Given the description of an element on the screen output the (x, y) to click on. 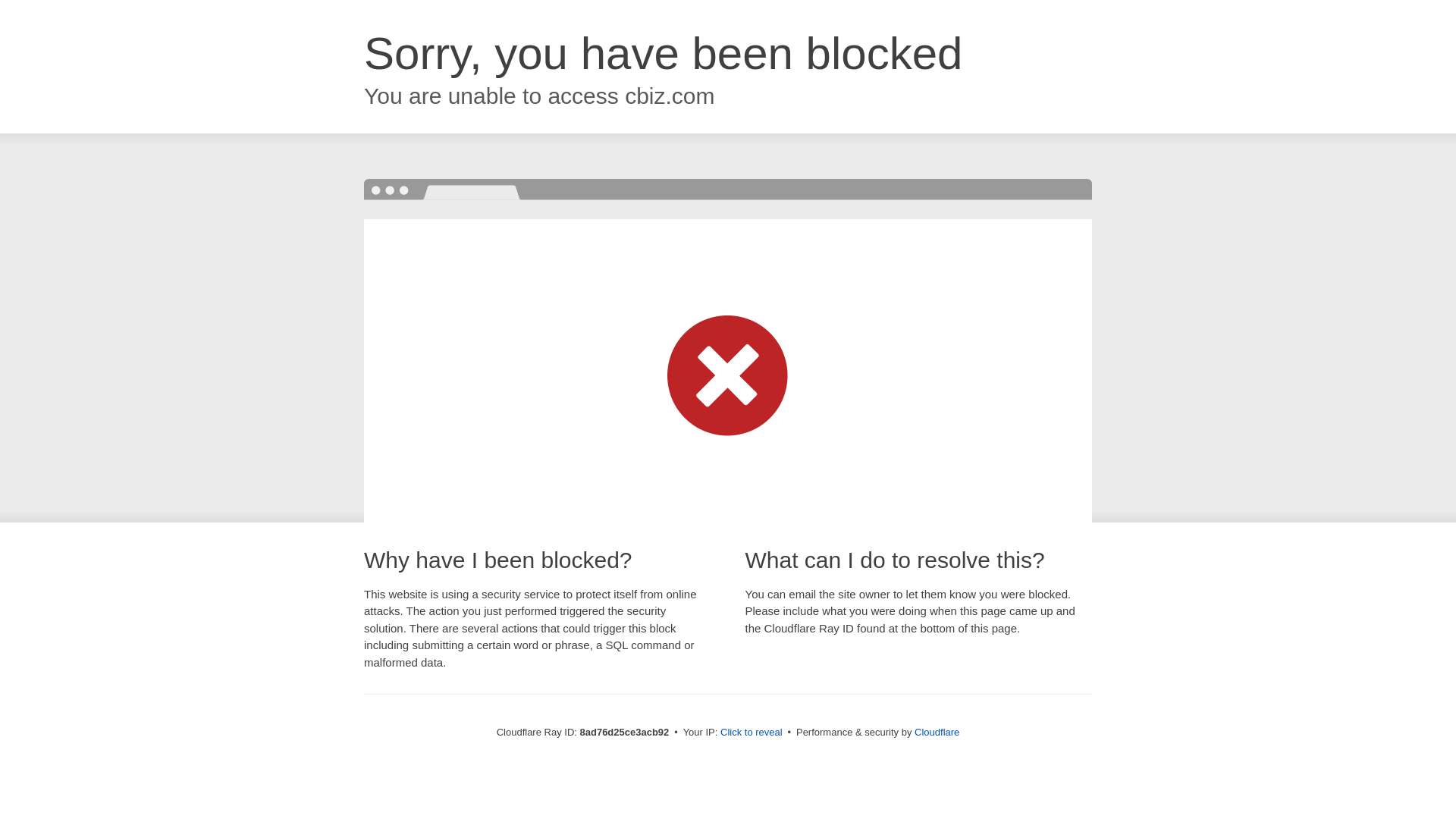
Click to reveal (751, 732)
Cloudflare (936, 731)
